Given the description of an element on the screen output the (x, y) to click on. 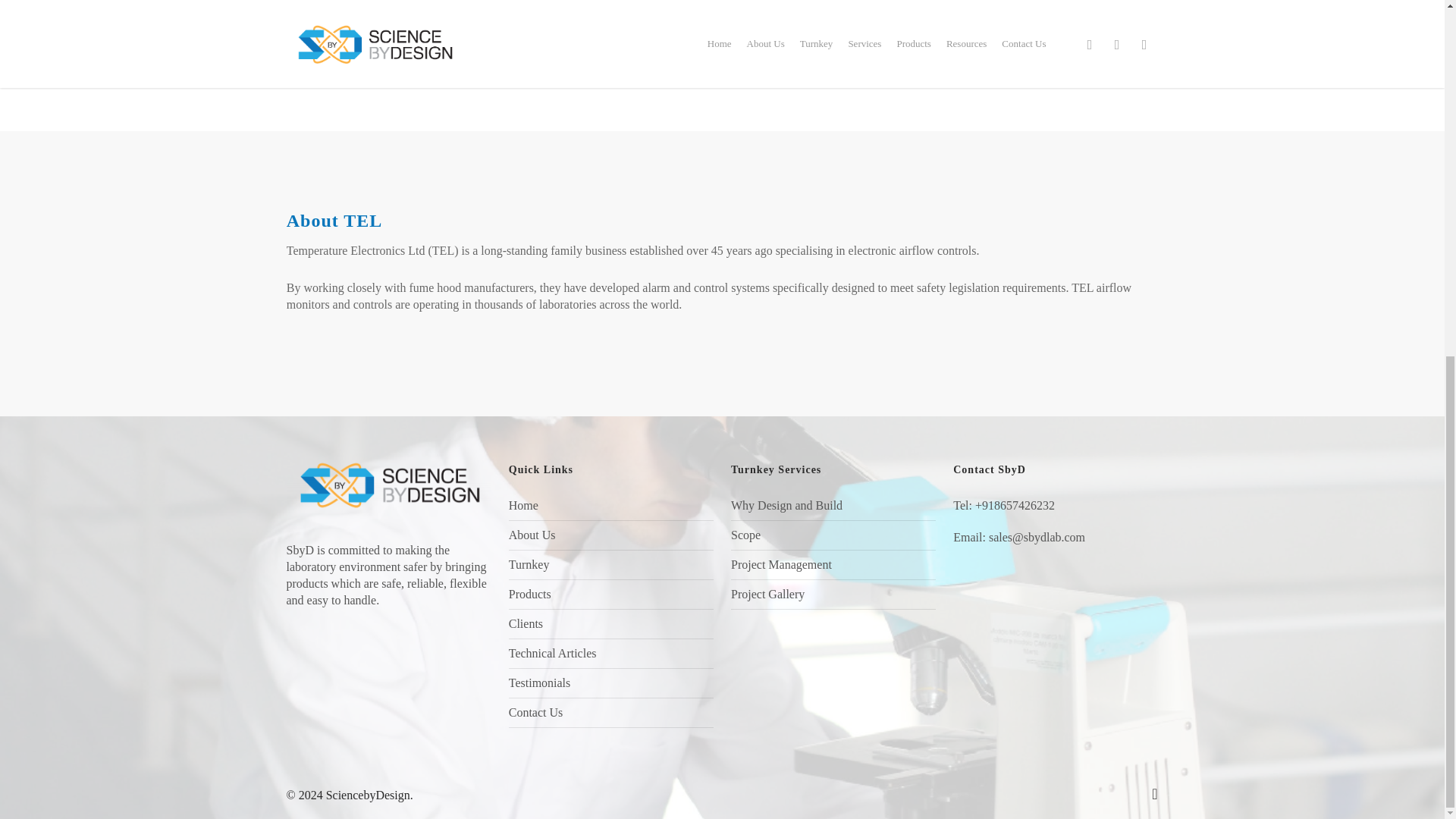
Technical Articles (610, 653)
About Us (610, 534)
Home (610, 508)
Products (610, 594)
Clients (610, 623)
Turnkey (610, 564)
